Given the description of an element on the screen output the (x, y) to click on. 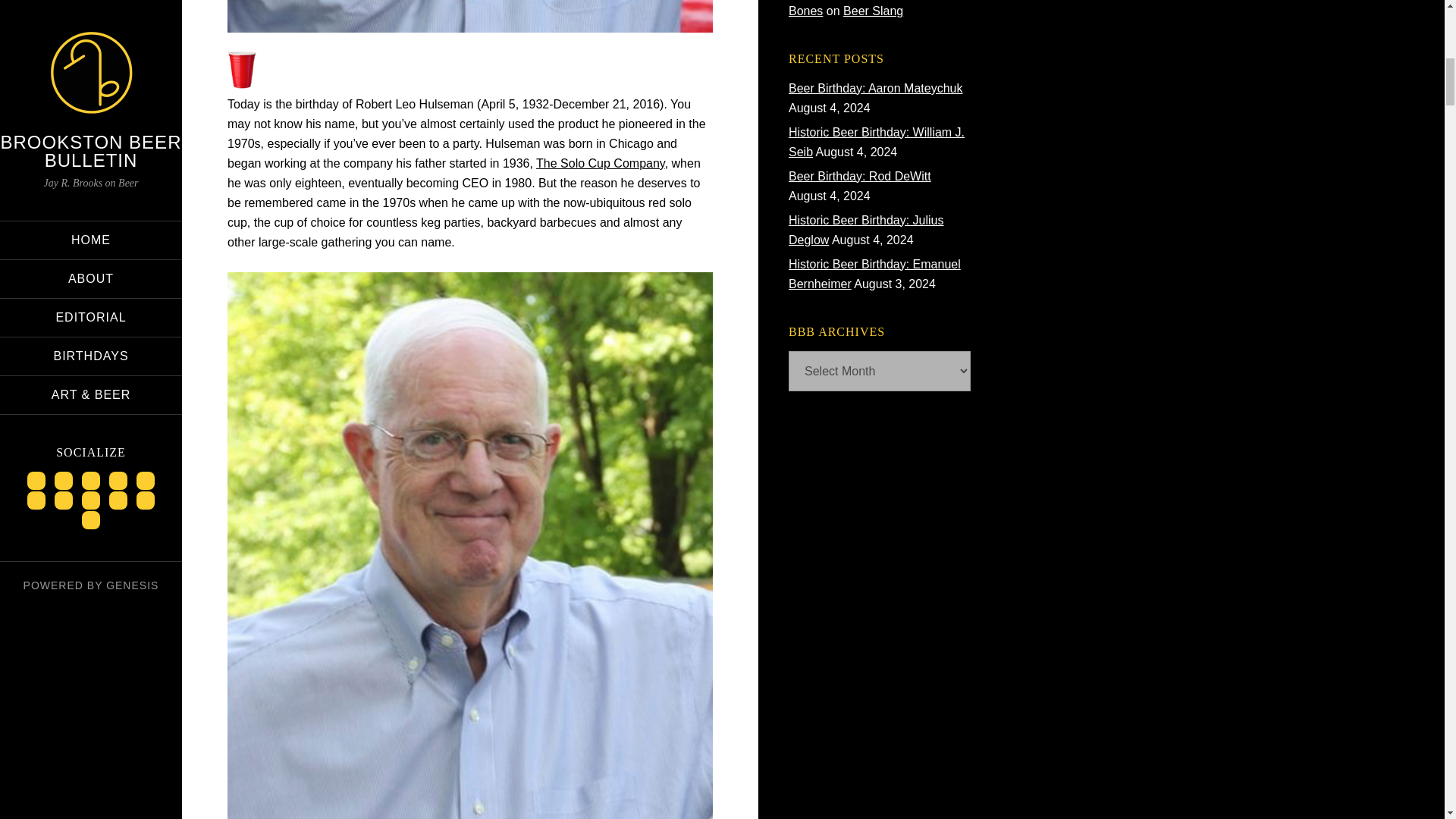
solo-cup (241, 83)
The Solo Cup Company (600, 163)
